Given the description of an element on the screen output the (x, y) to click on. 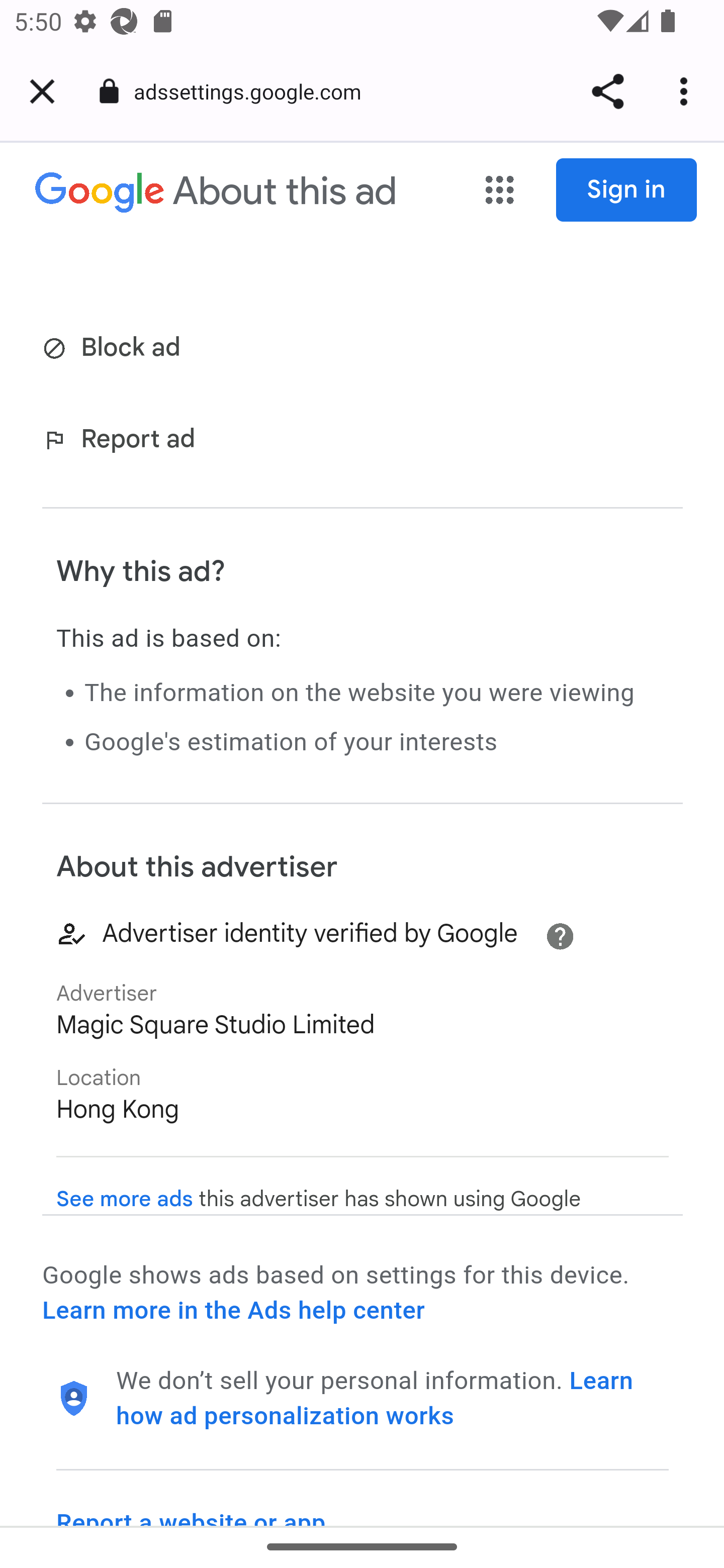
Close tab (42, 91)
Share (607, 91)
More options (687, 91)
Connection is secure (108, 91)
adssettings.google.com (254, 90)
Google apps (499, 191)
Sign in (627, 190)
Block ad (114, 348)
Report ad (opens in new tab) Report ad (122, 440)
See more ads (opens in new tab) See more ads (124, 1199)
Learn more in the Ads help center (233, 1310)
Learn how ad personalization works (374, 1398)
